Given the description of an element on the screen output the (x, y) to click on. 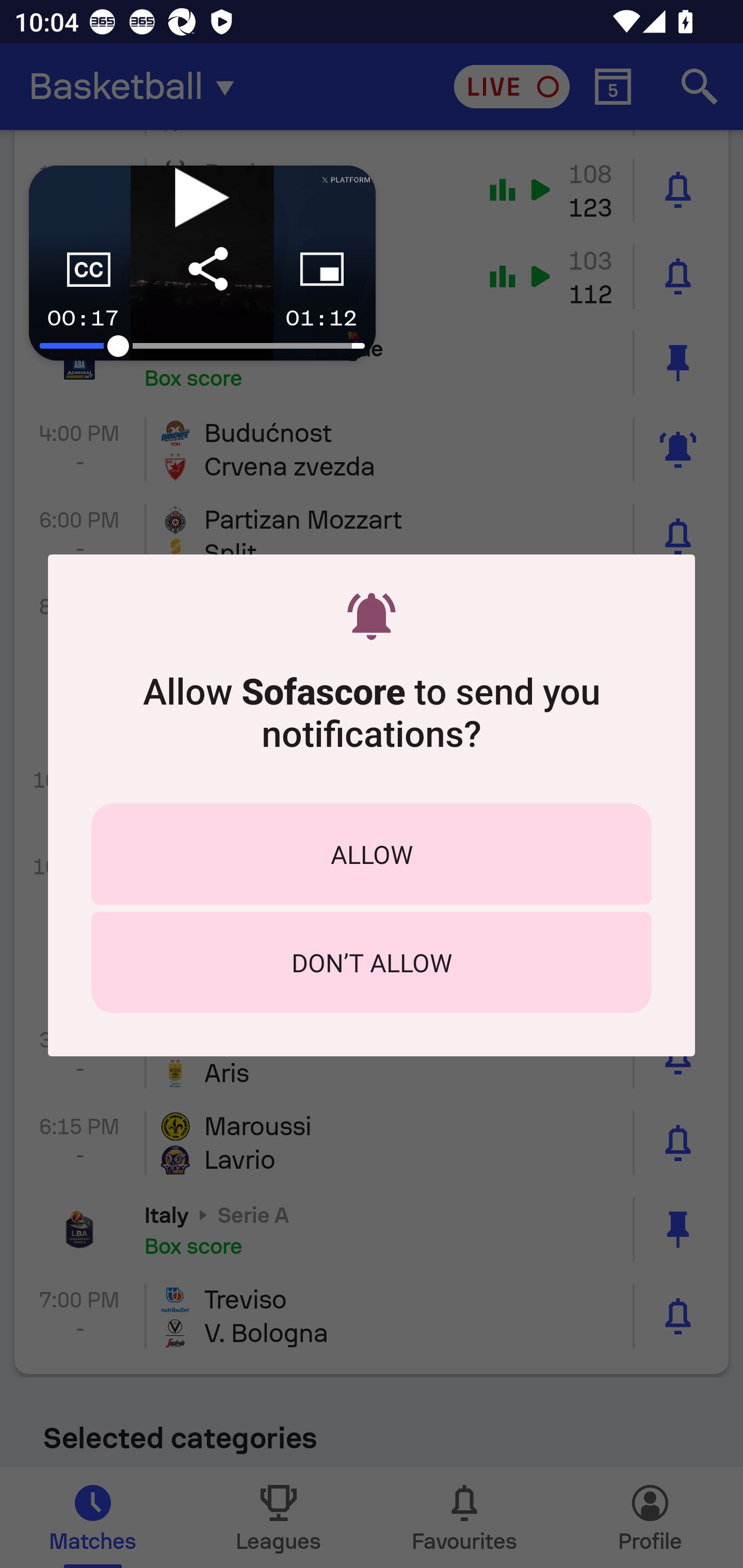
ALLOW (371, 853)
DON’T ALLOW (371, 962)
